Given the description of an element on the screen output the (x, y) to click on. 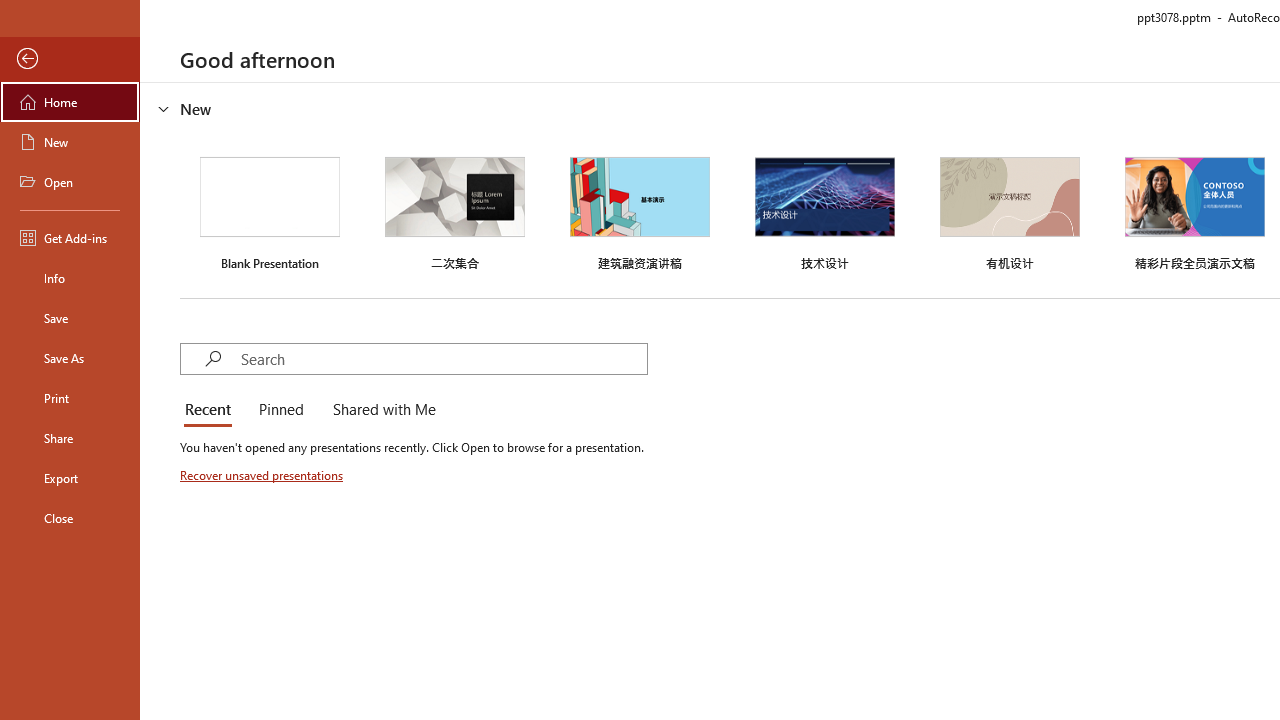
Get Add-ins (69, 237)
Save As (69, 357)
Print (69, 398)
Shared with Me (379, 410)
Recover unsaved presentations (263, 475)
Export (69, 477)
